Given the description of an element on the screen output the (x, y) to click on. 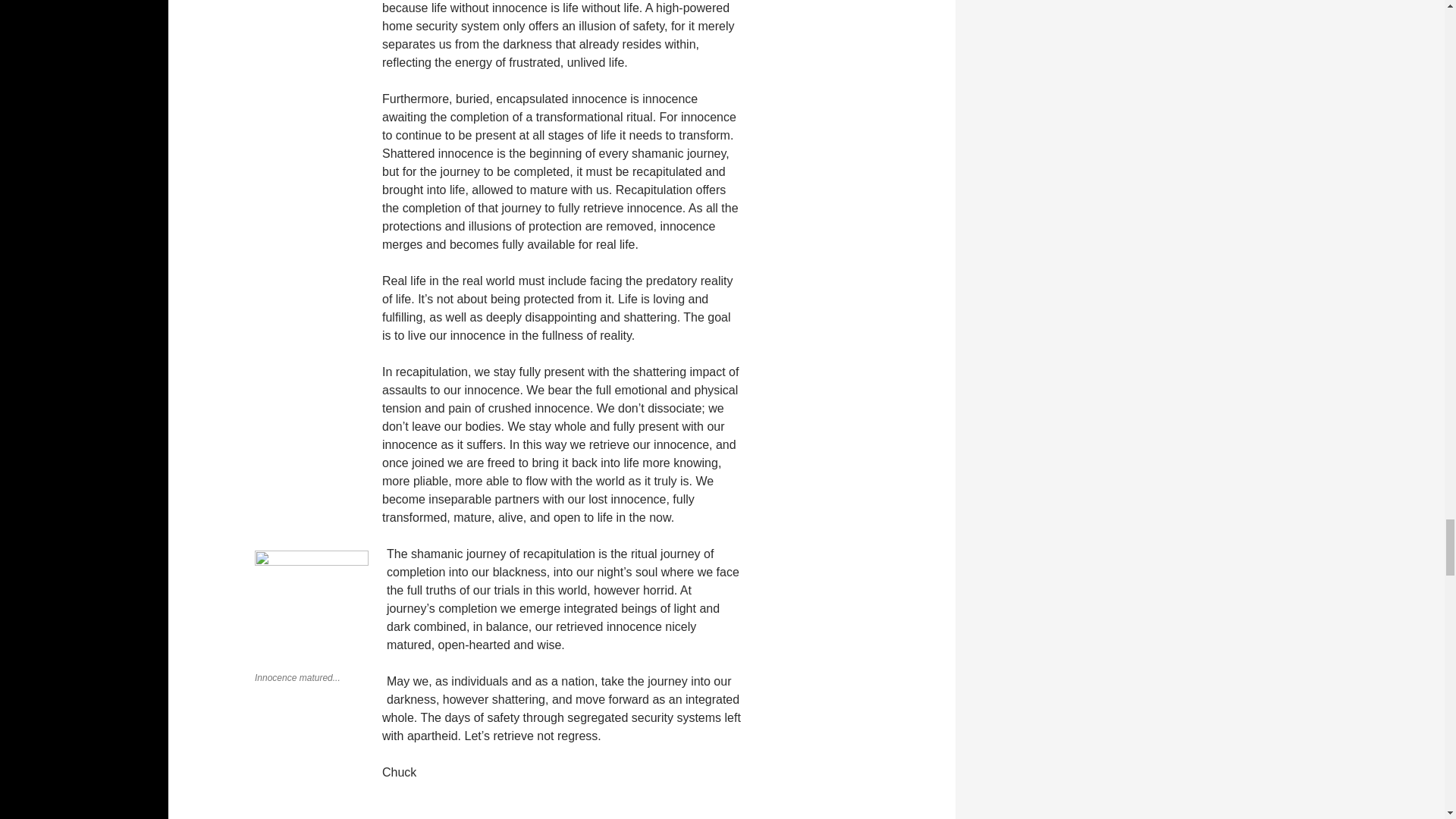
Photo by Jan (311, 607)
